Given the description of an element on the screen output the (x, y) to click on. 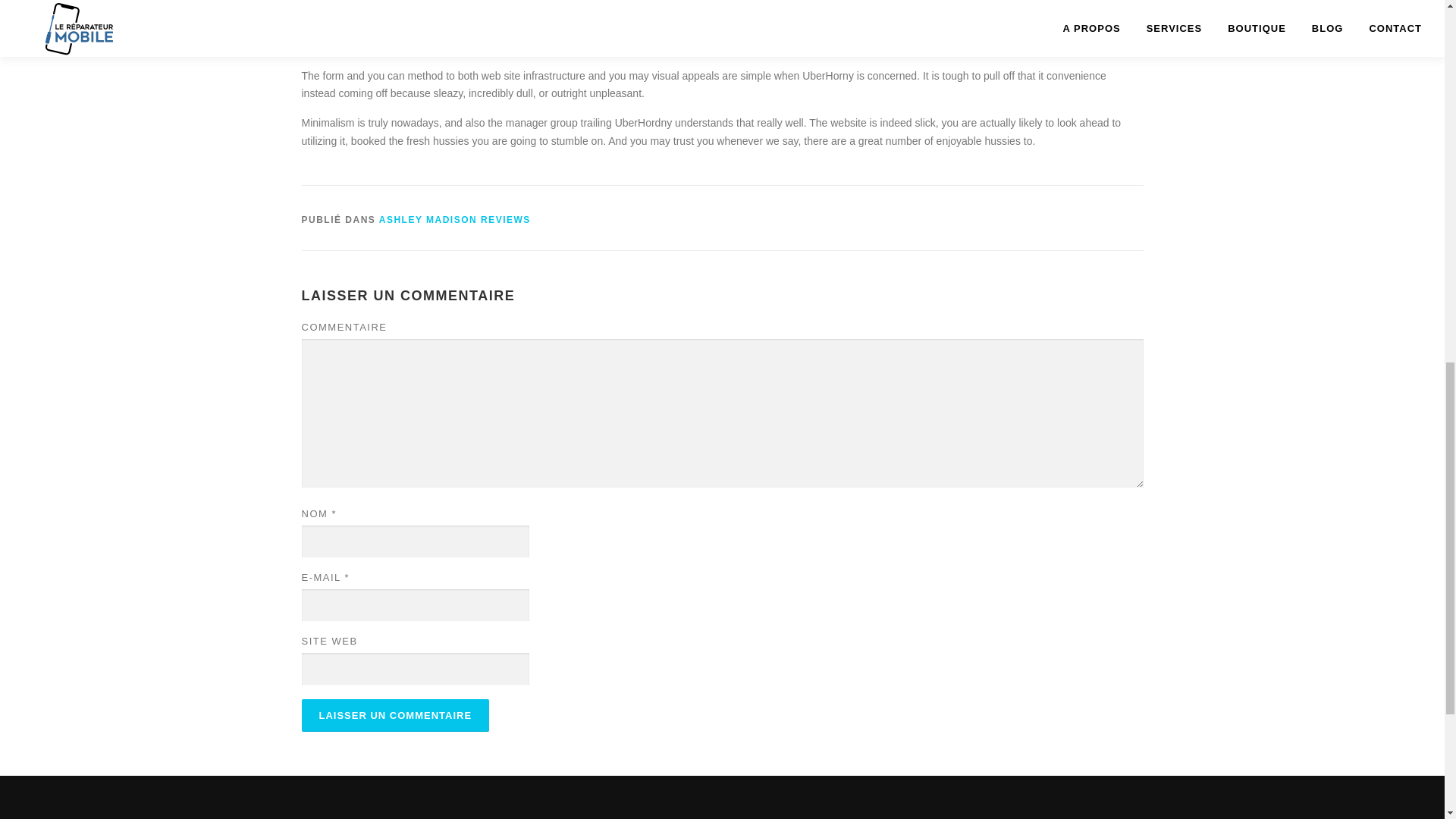
Laisser un commentaire (395, 715)
Laisser un commentaire (395, 715)
ASHLEY MADISON REVIEWS (454, 219)
